Given the description of an element on the screen output the (x, y) to click on. 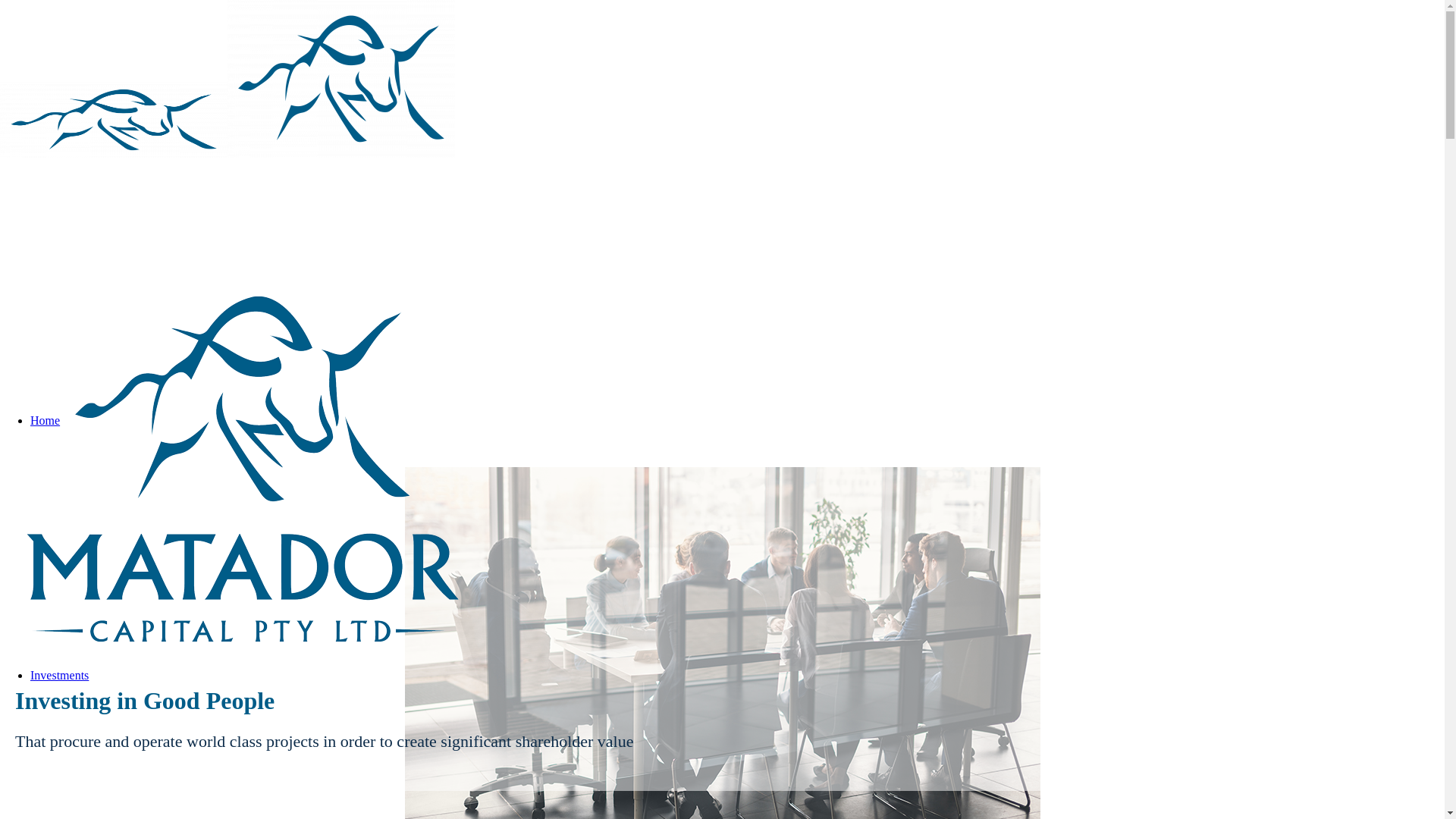
Home Element type: text (44, 420)
Investments Element type: text (59, 674)
